Given the description of an element on the screen output the (x, y) to click on. 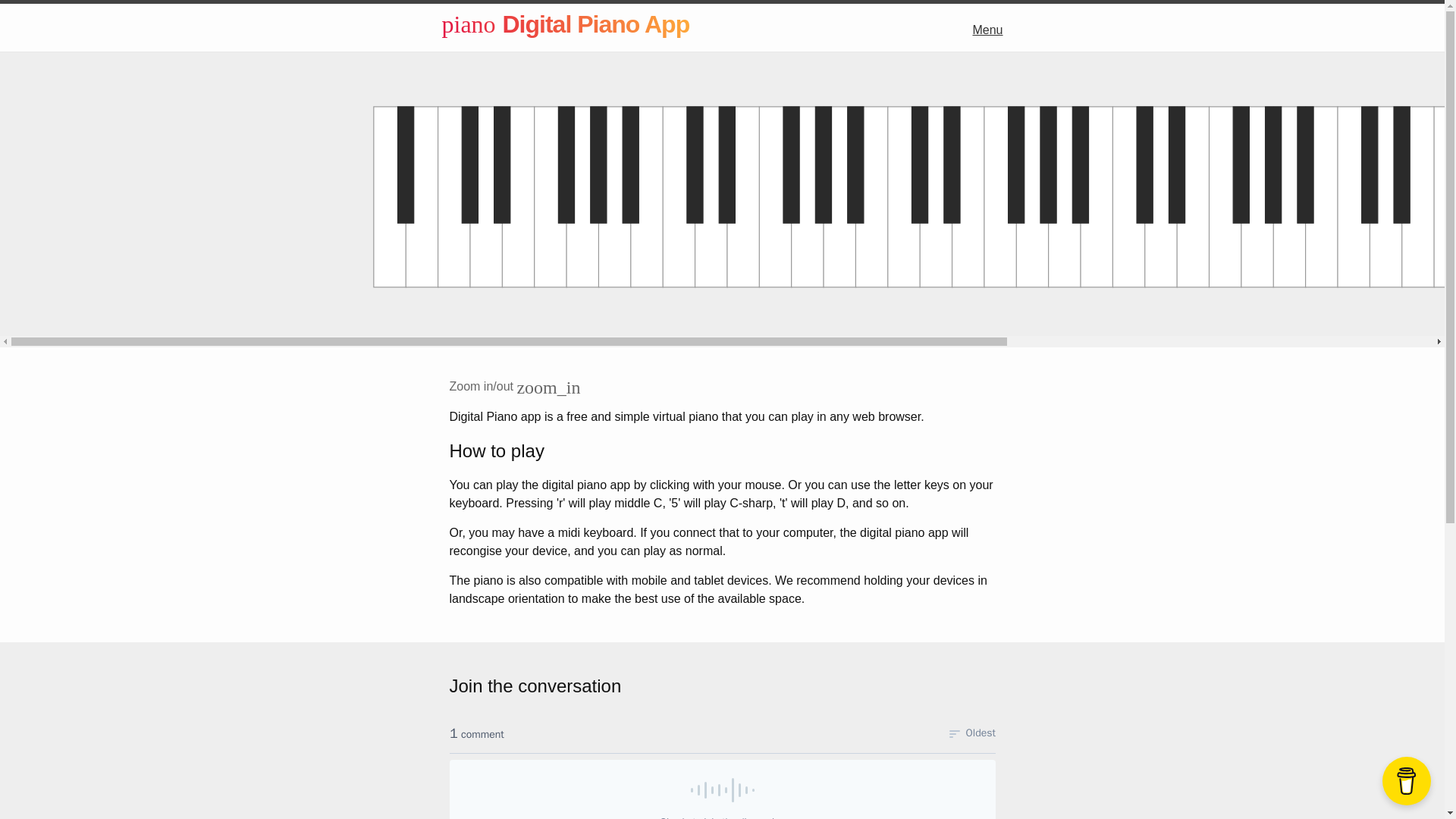
List of piano key frequencies (166, 208)
Home (166, 56)
Digital Piano App (595, 23)
ReplyBox Comments (721, 765)
Chord database (166, 246)
Menu (987, 29)
Menu (166, 18)
About (166, 94)
Note Table (166, 170)
Chord Table (166, 132)
